Given the description of an element on the screen output the (x, y) to click on. 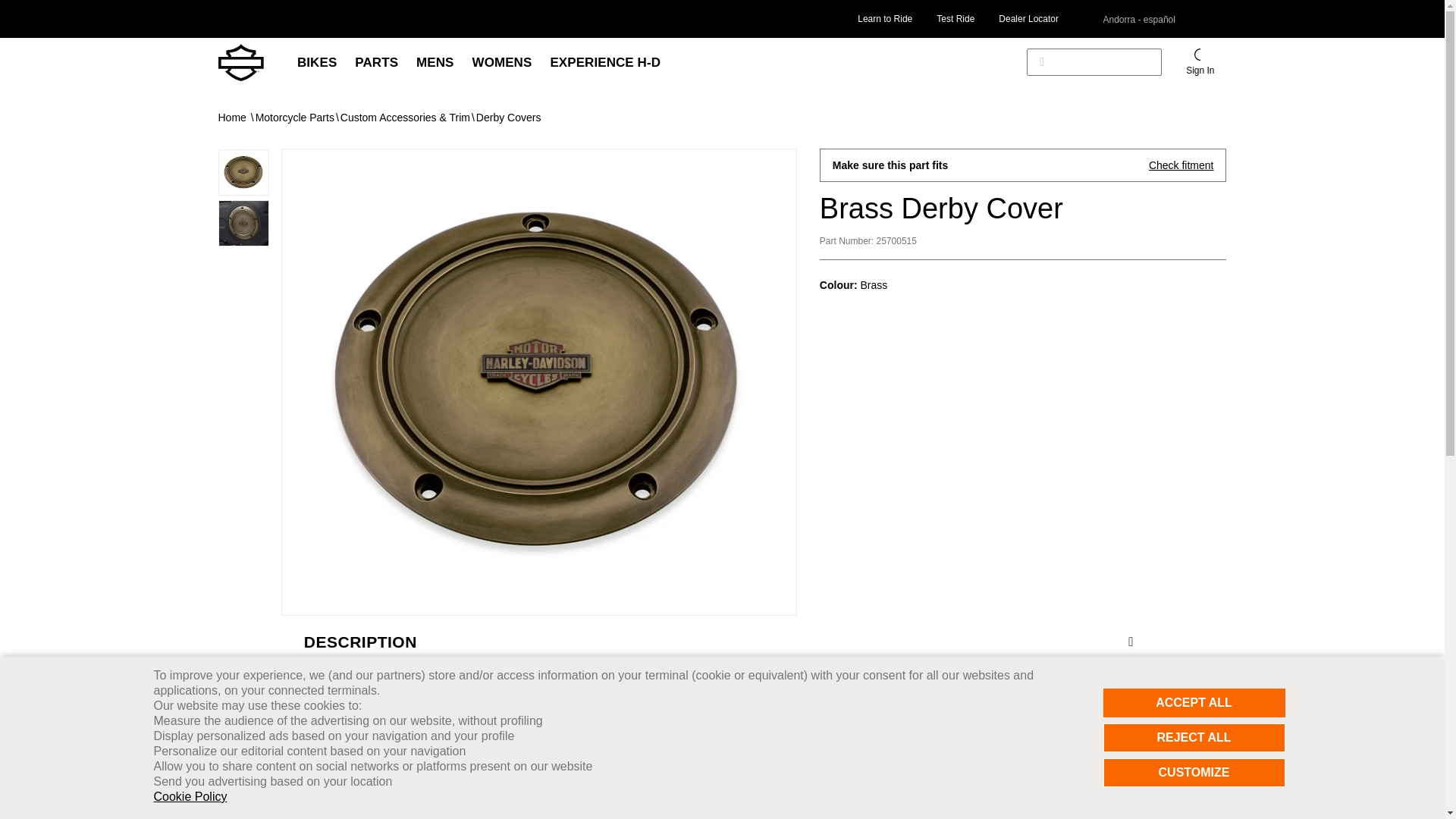
BIKES (317, 61)
Cookie Policy (189, 796)
ACCEPT ALL (1193, 702)
Learn to Ride (884, 18)
REJECT ALL (1193, 737)
Dealer Locator (1028, 18)
Test Ride (955, 18)
CUSTOMIZE (1193, 772)
Harley-Davidson (240, 62)
